Given the description of an element on the screen output the (x, y) to click on. 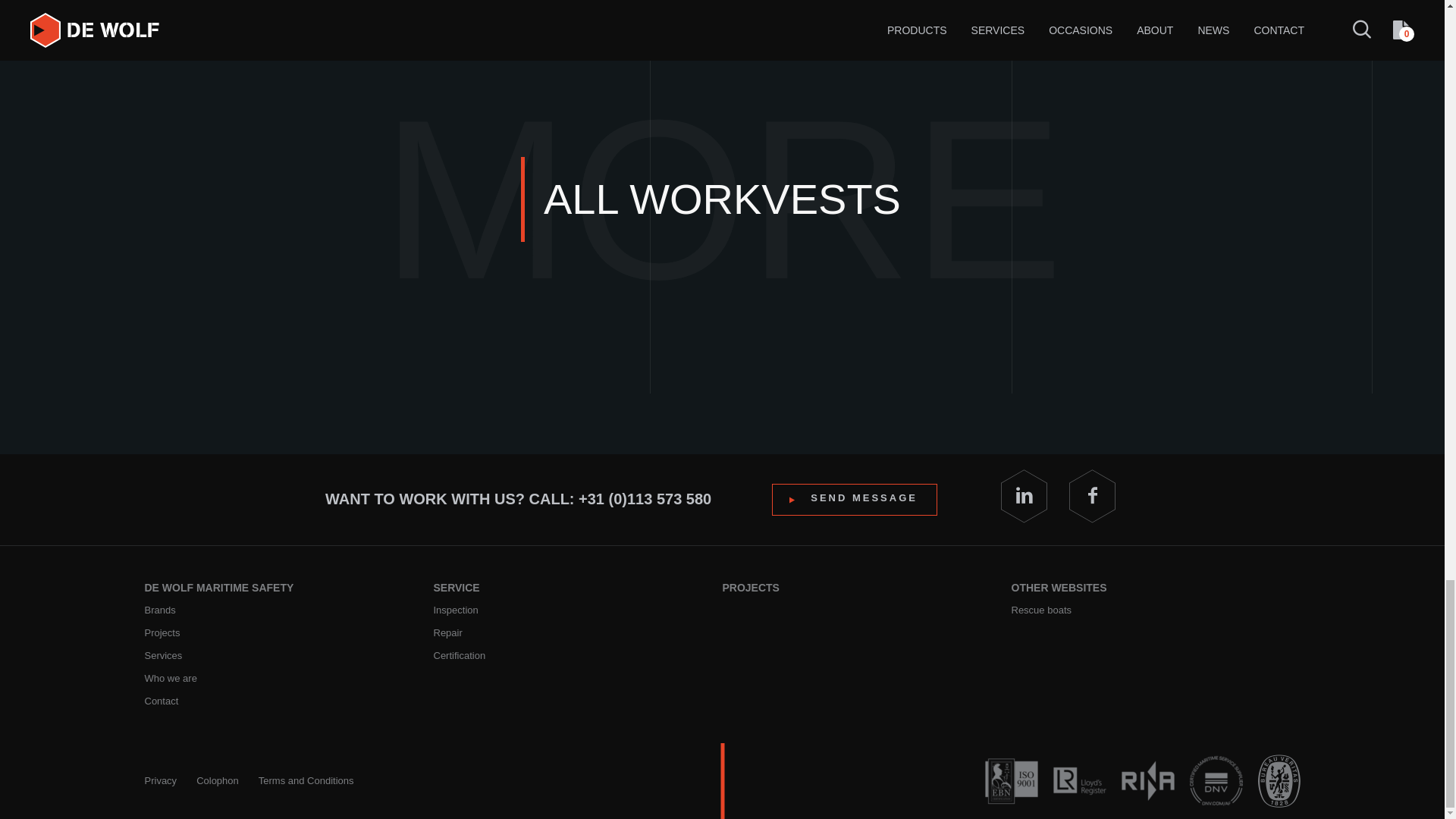
ALL WORKVESTS (722, 199)
